Given the description of an element on the screen output the (x, y) to click on. 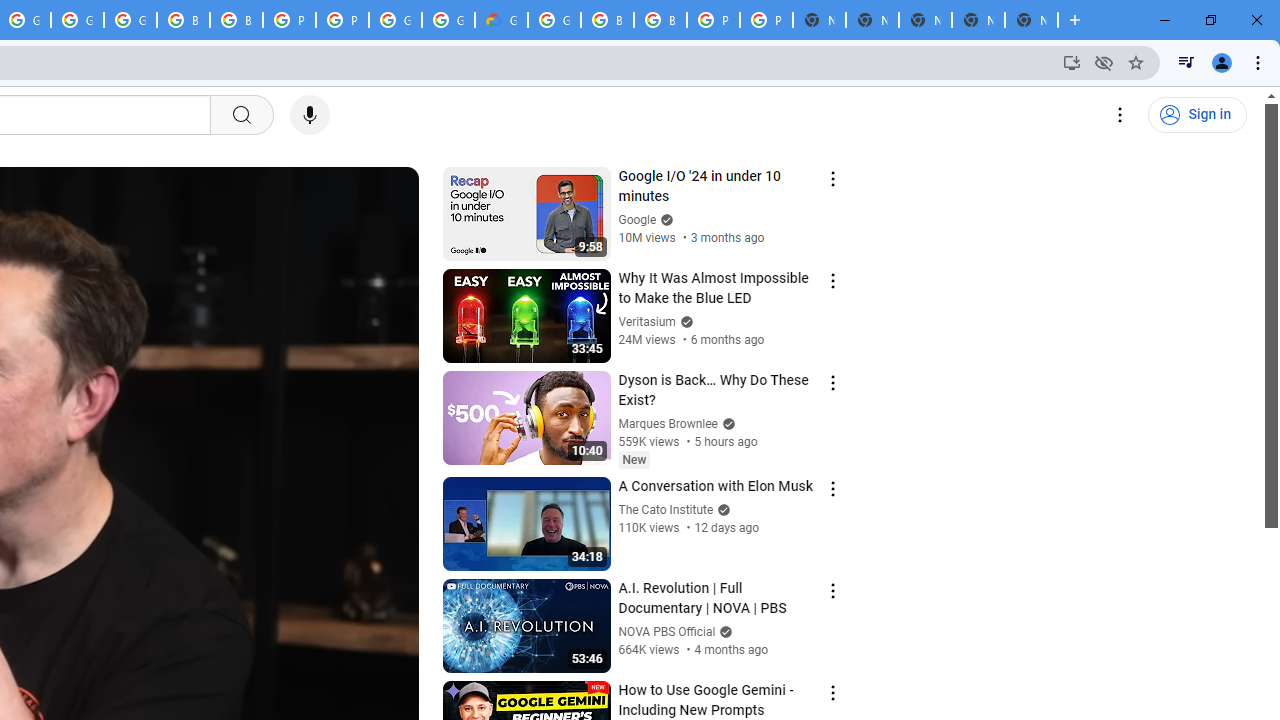
Search with your voice (309, 115)
Action menu (832, 692)
Install YouTube (1071, 62)
Google Cloud Platform (554, 20)
Google Cloud Platform (395, 20)
New (634, 459)
